Given the description of an element on the screen output the (x, y) to click on. 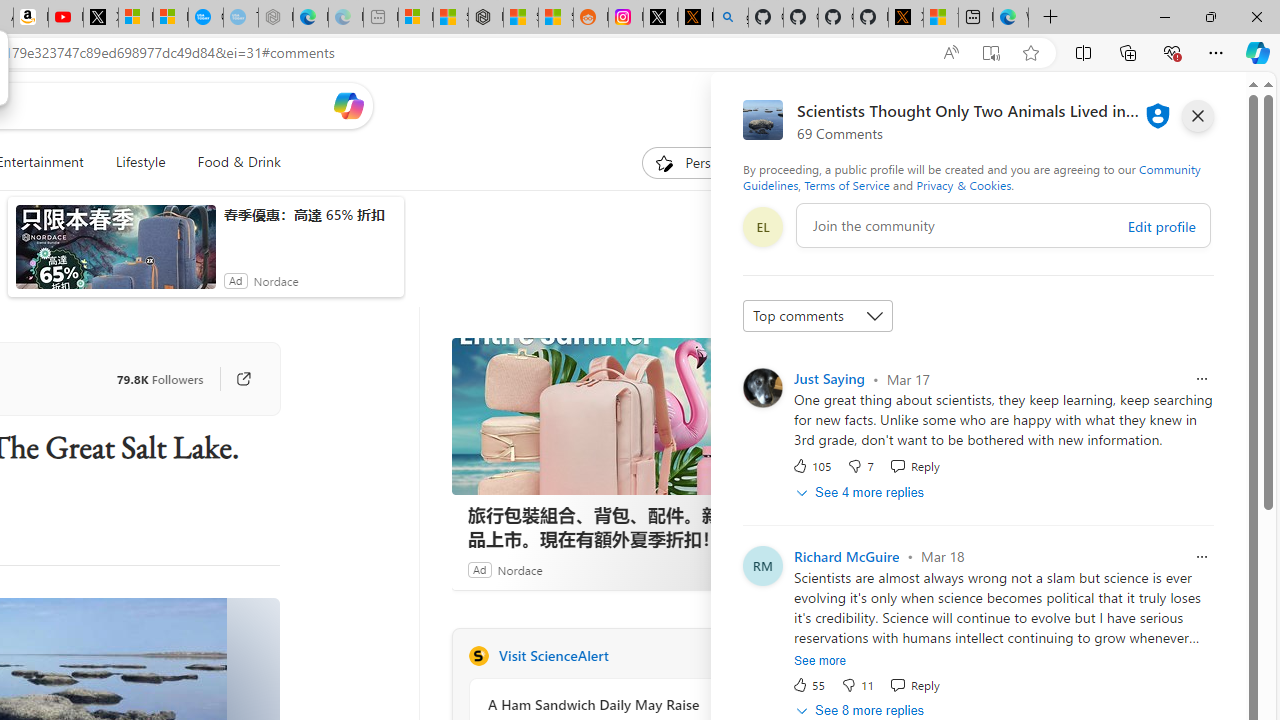
Profile Picture (762, 565)
See 4 more replies (861, 492)
Edit profile (1160, 226)
